Given the description of an element on the screen output the (x, y) to click on. 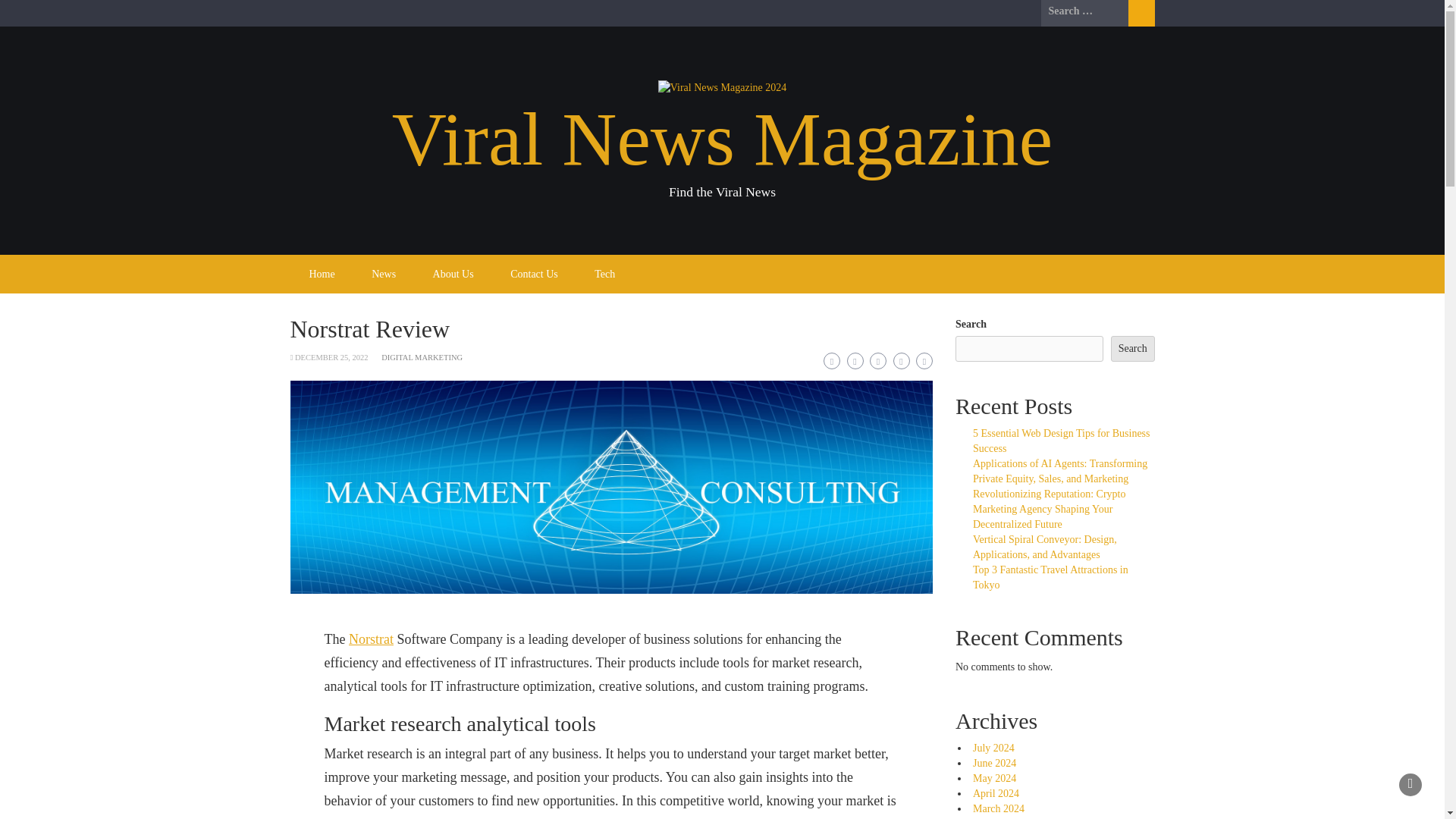
DECEMBER 25, 2022 (331, 356)
Tech (604, 273)
News (383, 273)
Search (1132, 348)
About Us (453, 273)
Contact Us (534, 273)
Norstrat (371, 639)
Top 3 Fantastic Travel Attractions in Tokyo (1050, 577)
March 2024 (998, 808)
April 2024 (995, 793)
Search (1141, 13)
Search (1141, 13)
Search for: (1083, 11)
